Given the description of an element on the screen output the (x, y) to click on. 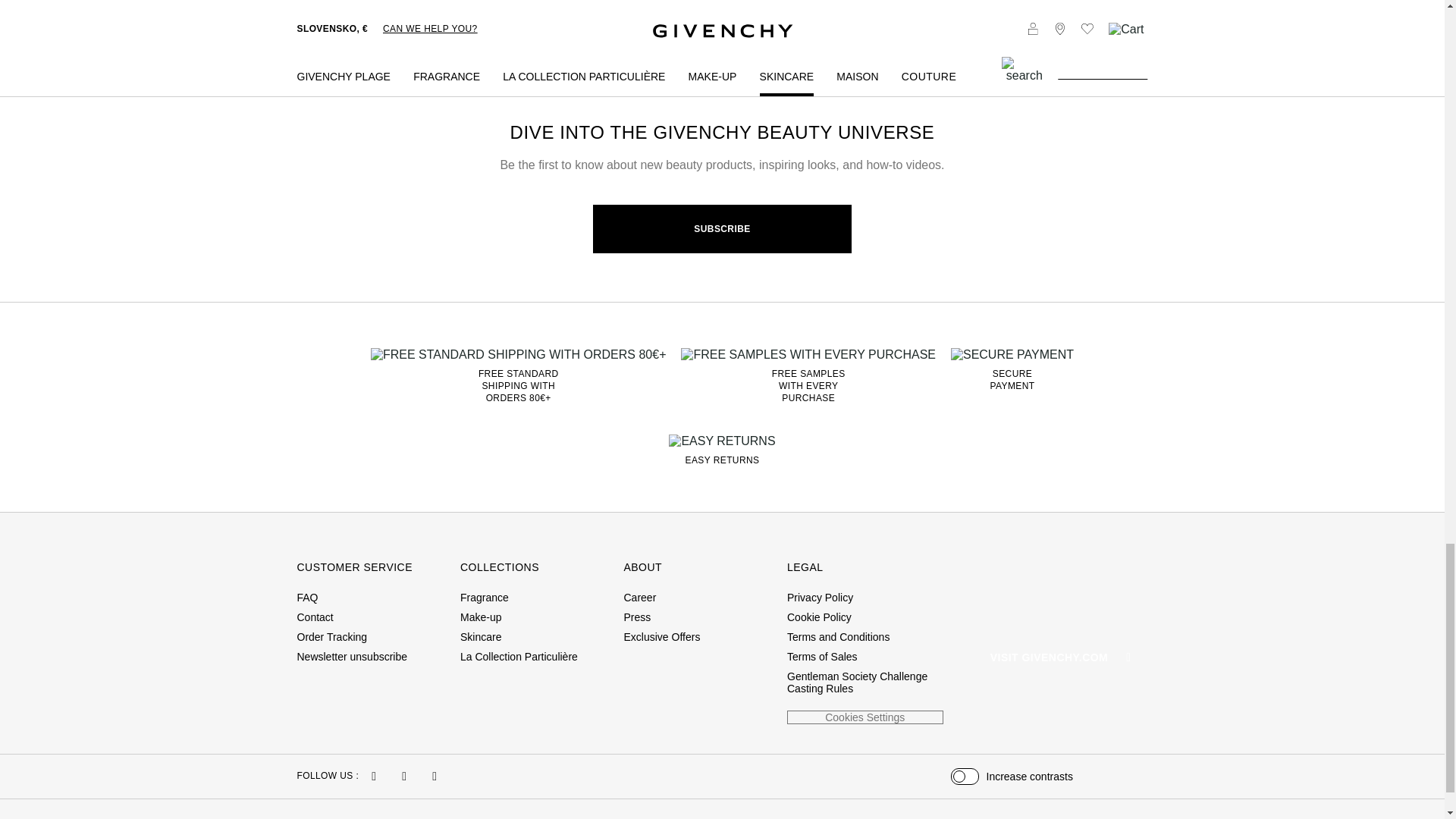
on (964, 775)
